Given the description of an element on the screen output the (x, y) to click on. 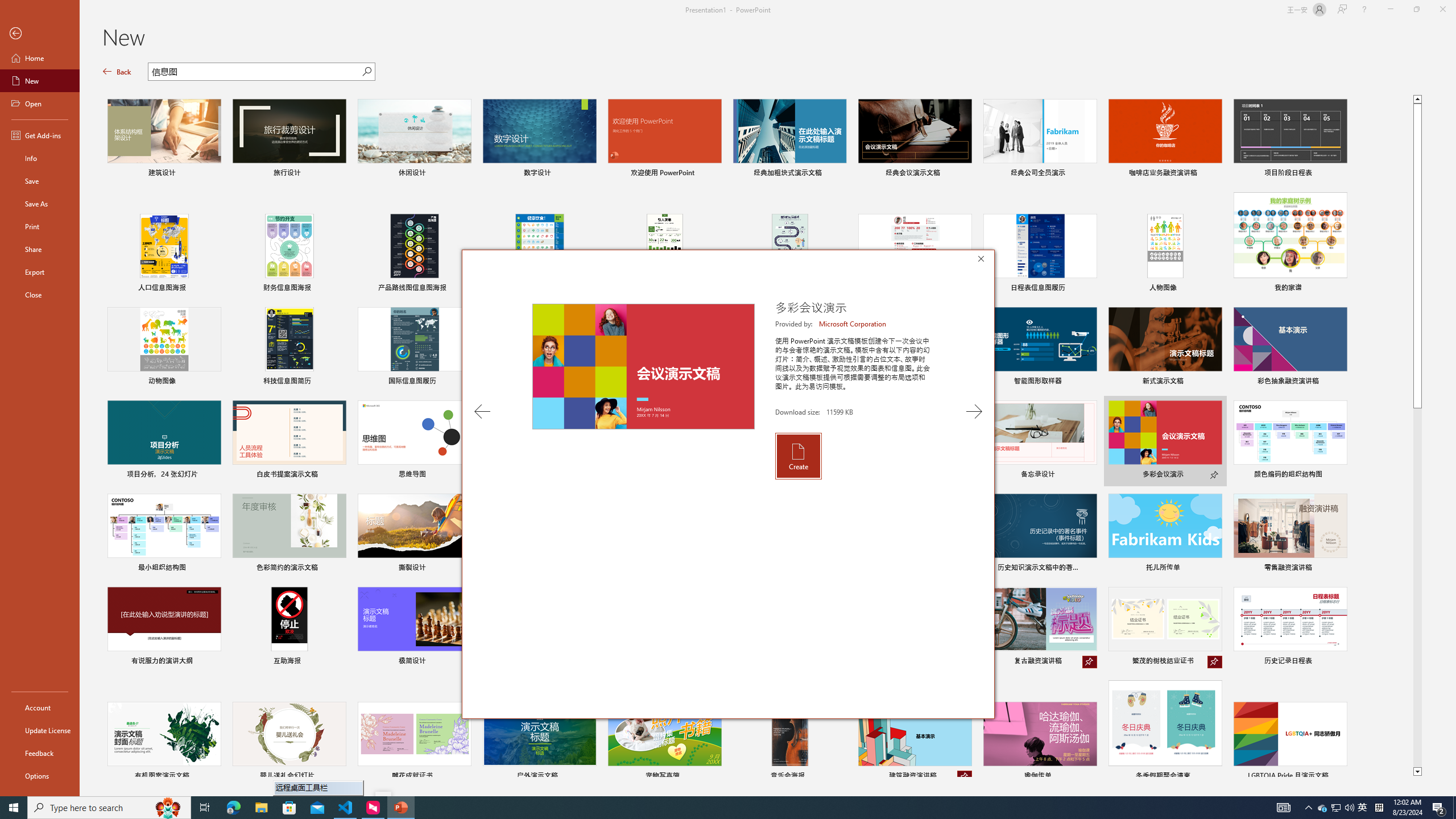
Type here to search (108, 807)
Update License (40, 730)
File Explorer (261, 807)
Start searching (366, 71)
Page down (1417, 587)
PowerPoint - 1 running window (400, 807)
